Given the description of an element on the screen output the (x, y) to click on. 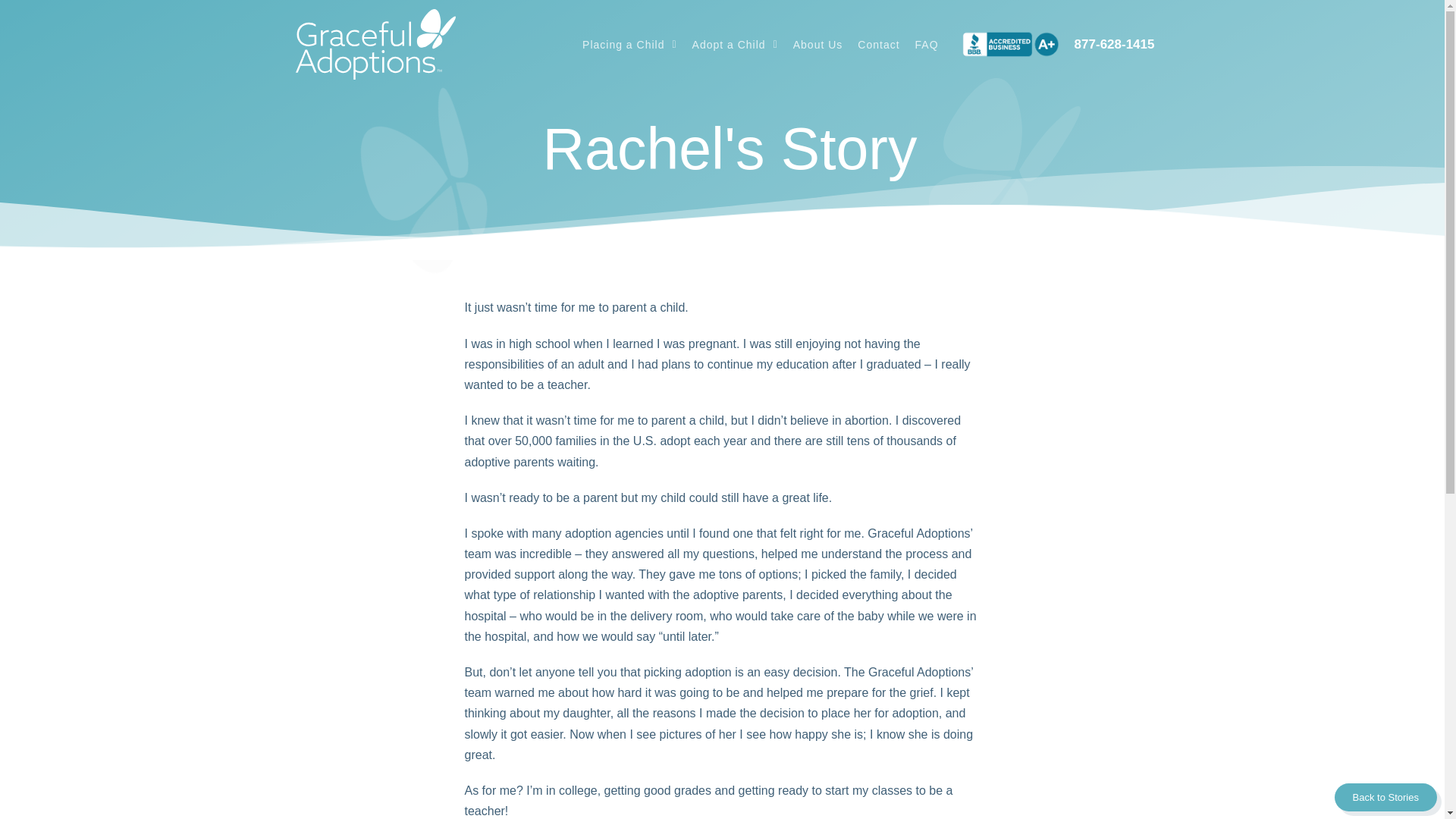
Adopt a Child (735, 44)
FAQ (926, 44)
About Us (818, 44)
Contact (878, 44)
877-628-1415 (1114, 43)
Placing a Child (629, 44)
